Given the description of an element on the screen output the (x, y) to click on. 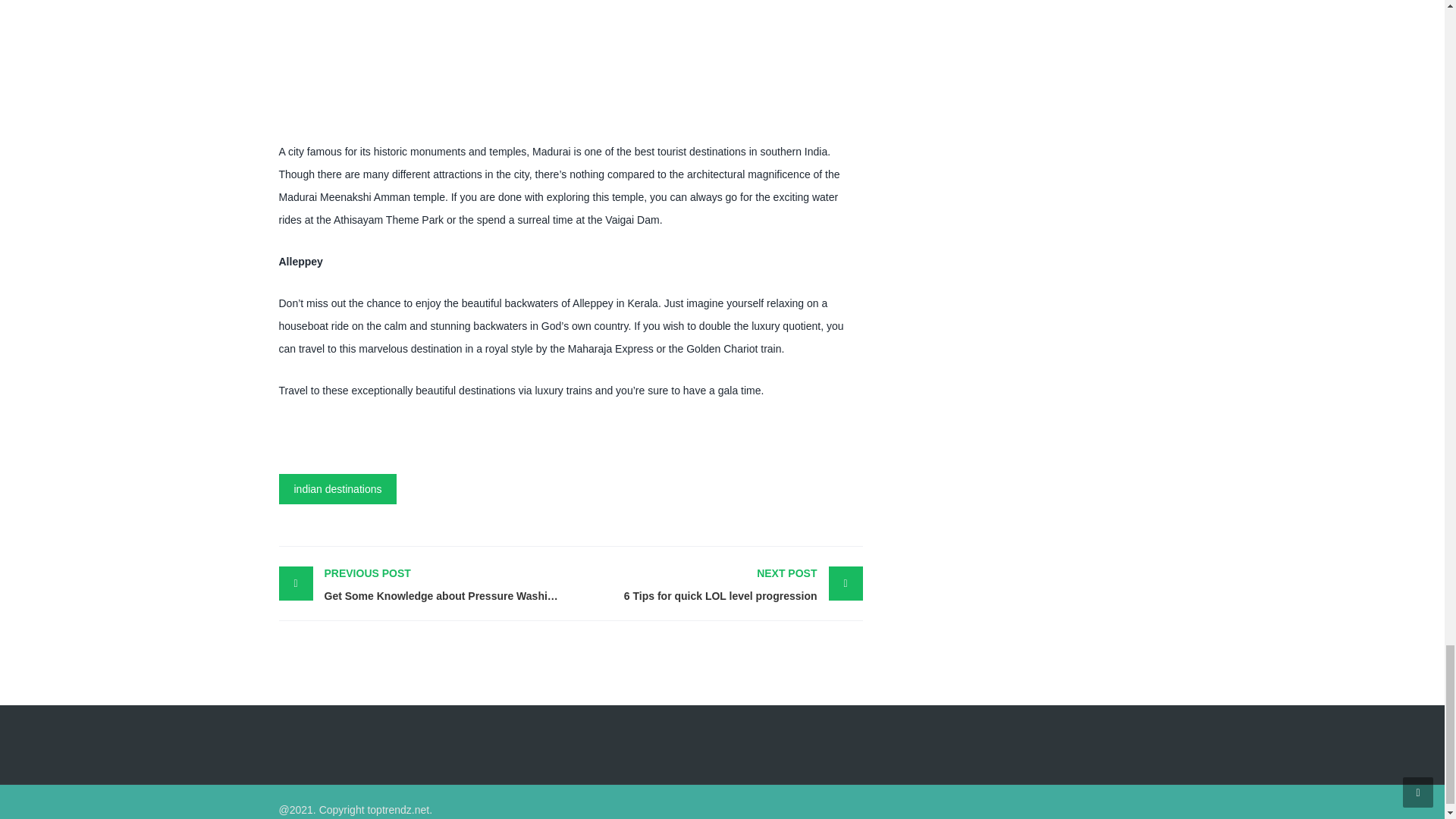
indian destinations (715, 584)
